Given the description of an element on the screen output the (x, y) to click on. 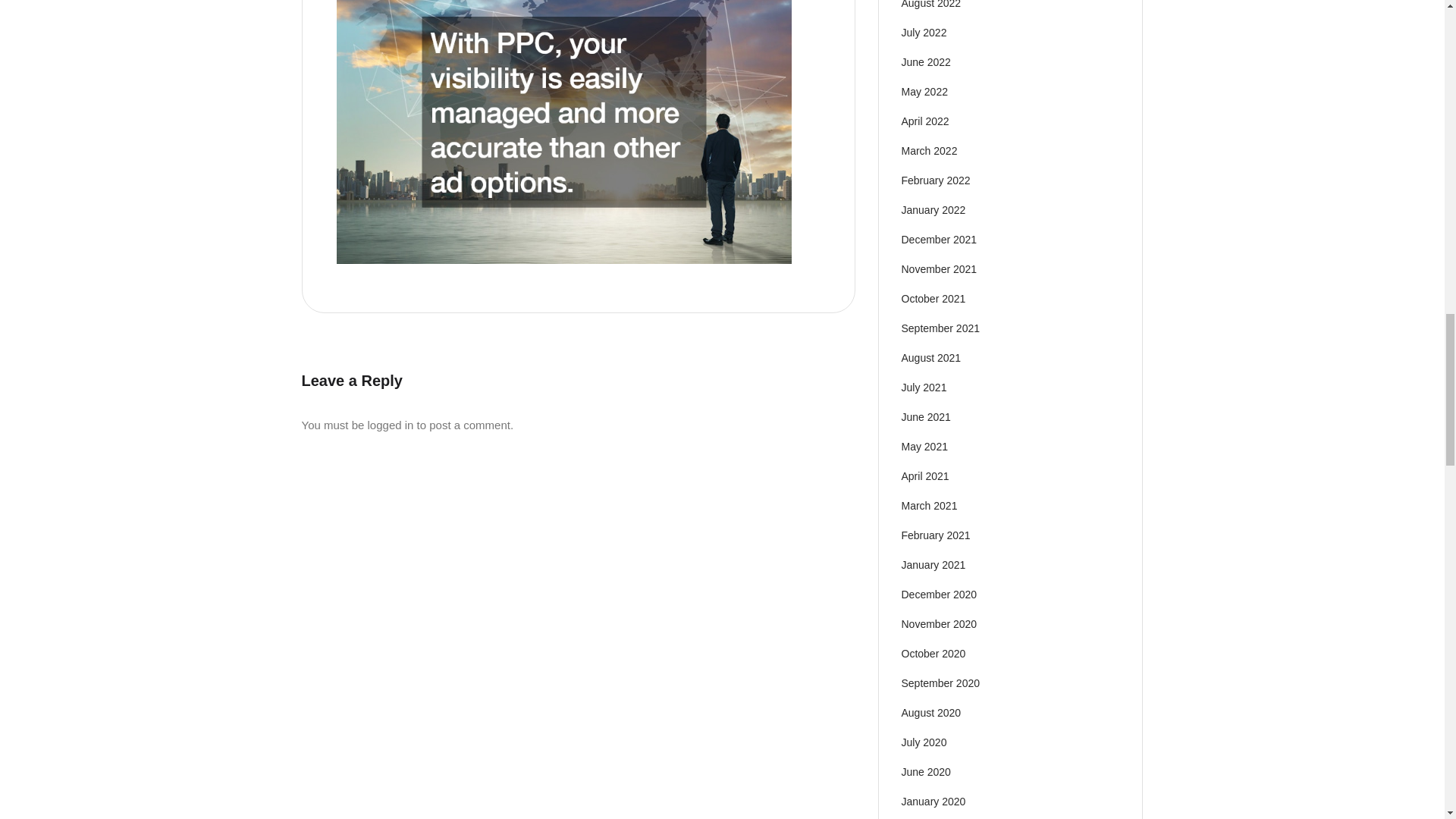
logged in (390, 424)
